Given the description of an element on the screen output the (x, y) to click on. 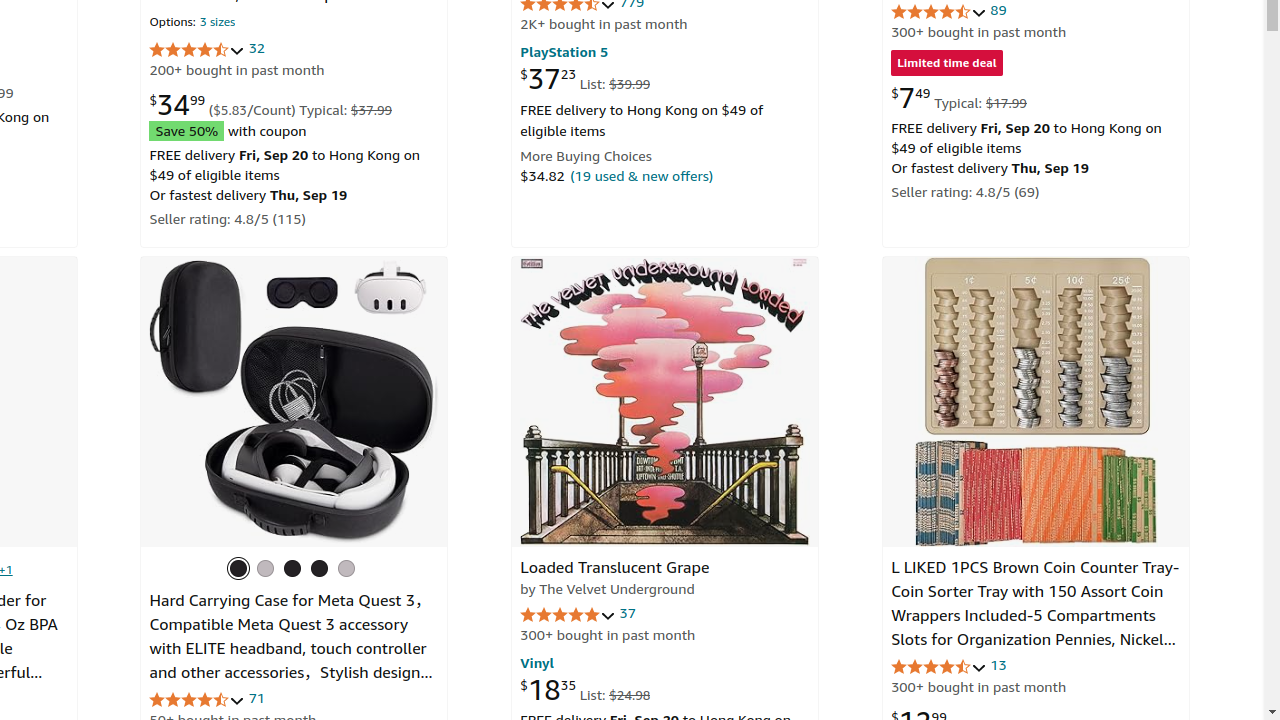
wonlince Hard Carrying Case for Meta Quest 3，Compatible Meta Quest 3 accessory with ELITE headband, touch controller and o... Element type: link (294, 401)
37 Element type: link (627, 613)
$37.23 List: $39.99 Element type: link (585, 78)
